Given the description of an element on the screen output the (x, y) to click on. 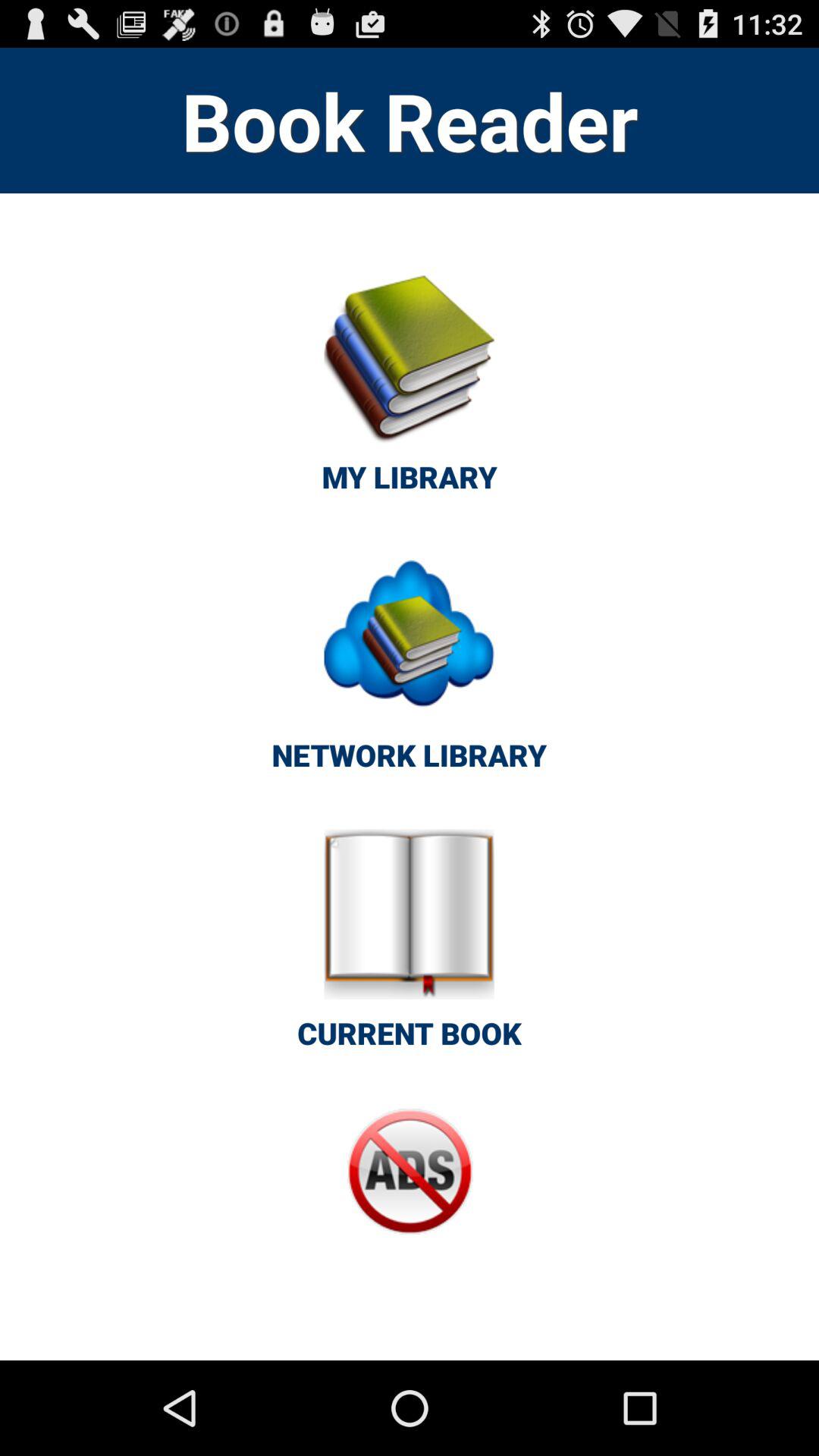
launch button below my library icon (408, 670)
